Given the description of an element on the screen output the (x, y) to click on. 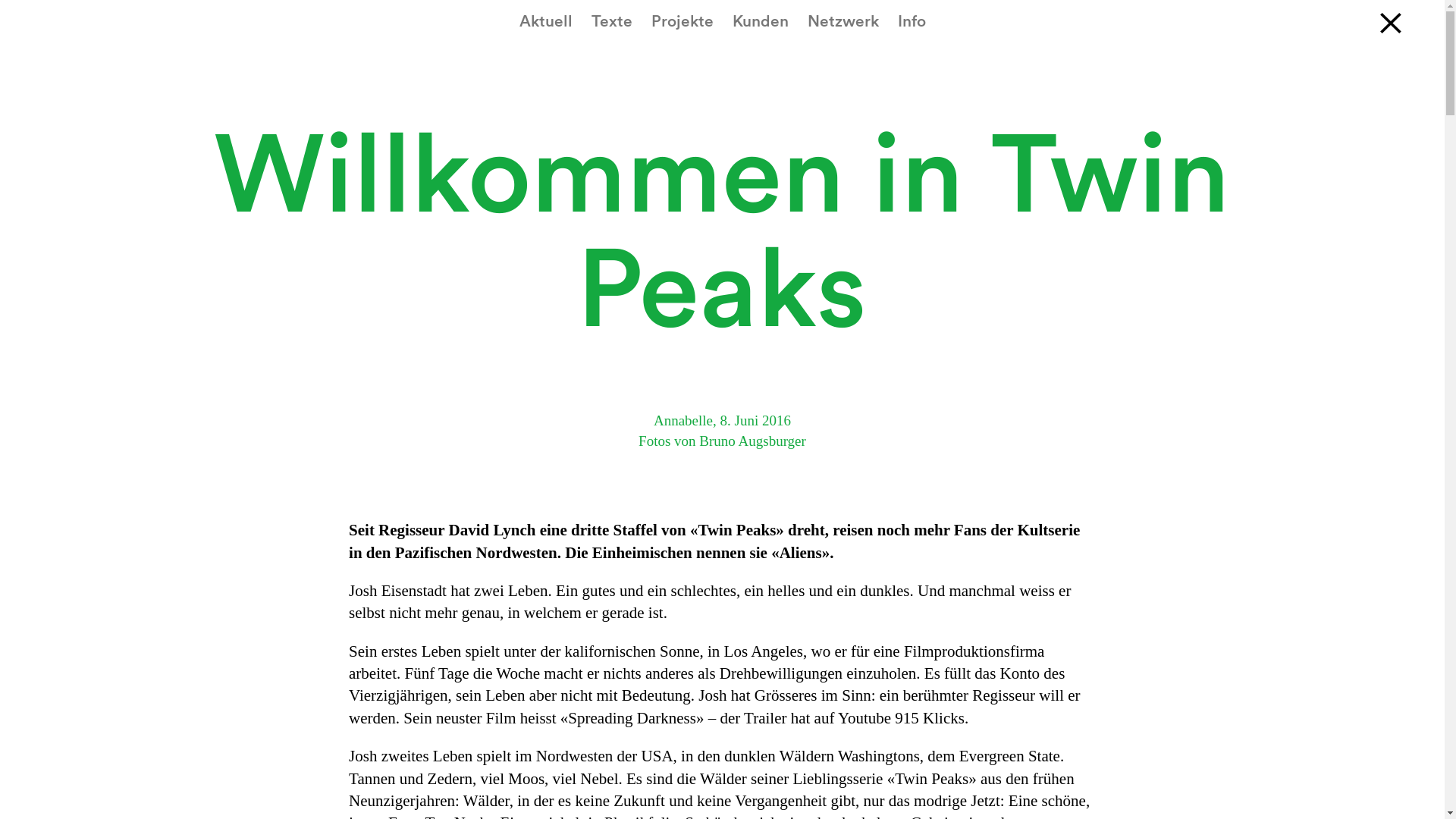
Info Element type: text (911, 20)
Netzwerk Element type: text (842, 20)
Aktuell Element type: text (544, 20)
Texte Element type: text (611, 20)
Projekte Element type: text (681, 20)
Kunden Element type: text (760, 20)
